Given the description of an element on the screen output the (x, y) to click on. 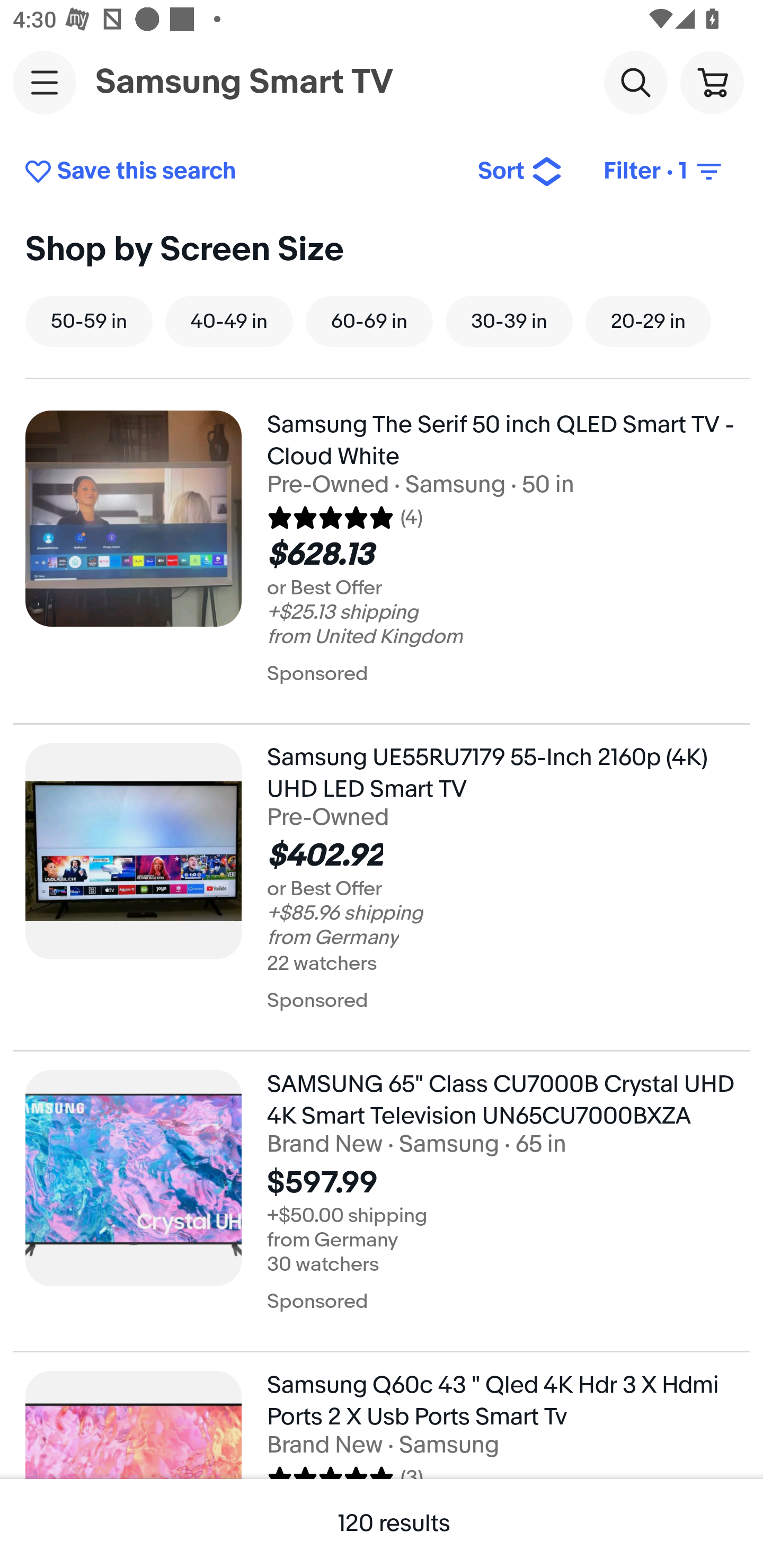
Main navigation, open (44, 82)
Search (635, 81)
Cart button shopping cart (711, 81)
Save this search (237, 171)
Sort (520, 171)
Filter • 1 Filter (1 applied) (663, 171)
50-59 in 50-59 in, Screen Size (88, 321)
40-49 in 40-49 in, Screen Size (228, 321)
60-69 in 60-69 in, Screen Size (368, 321)
30-39 in 30-39 in, Screen Size (509, 321)
20-29 in 20-29 in, Screen Size (648, 321)
